Given the description of an element on the screen output the (x, y) to click on. 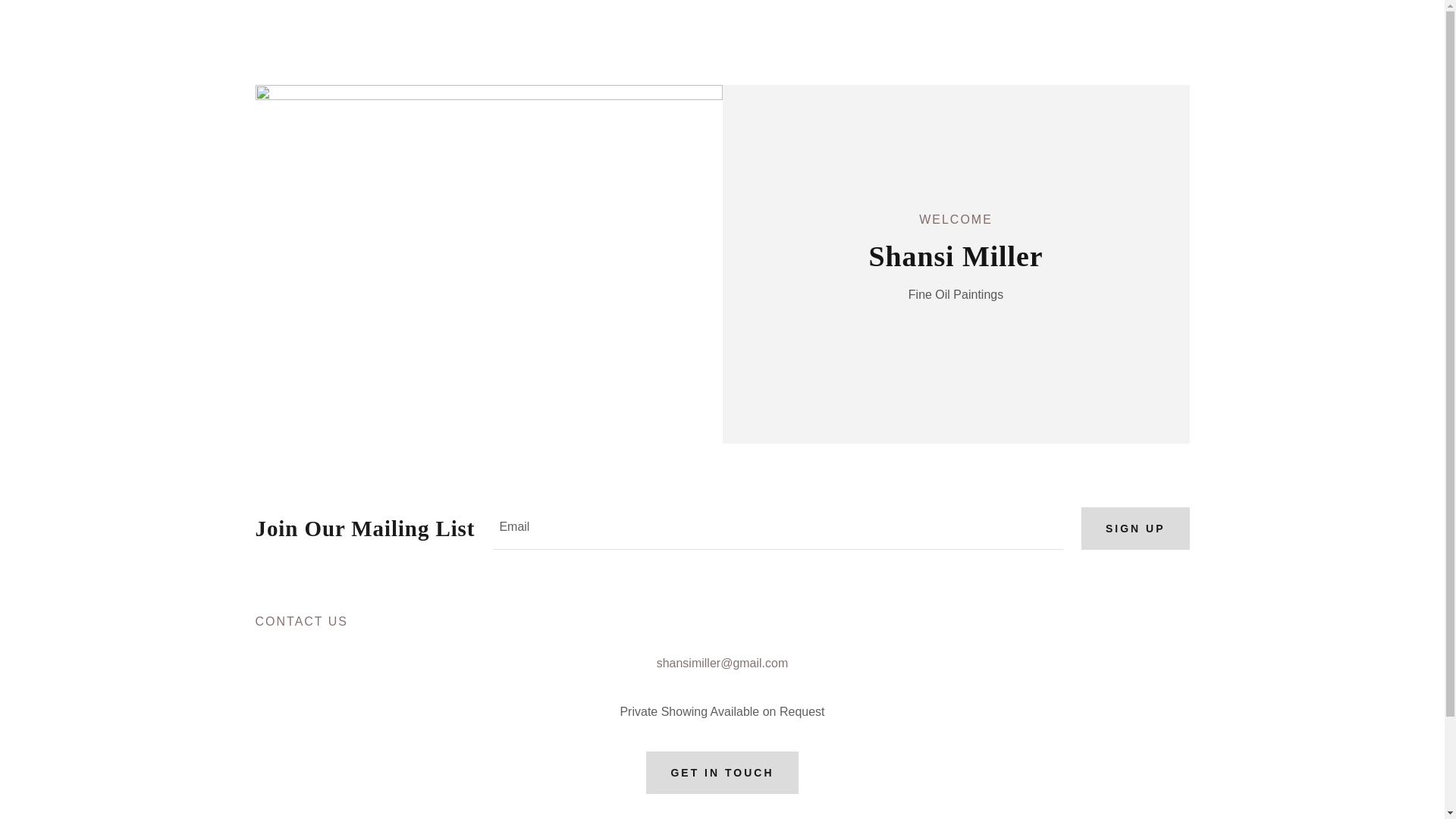
GET IN TOUCH (721, 772)
SIGN UP (1135, 527)
